Given the description of an element on the screen output the (x, y) to click on. 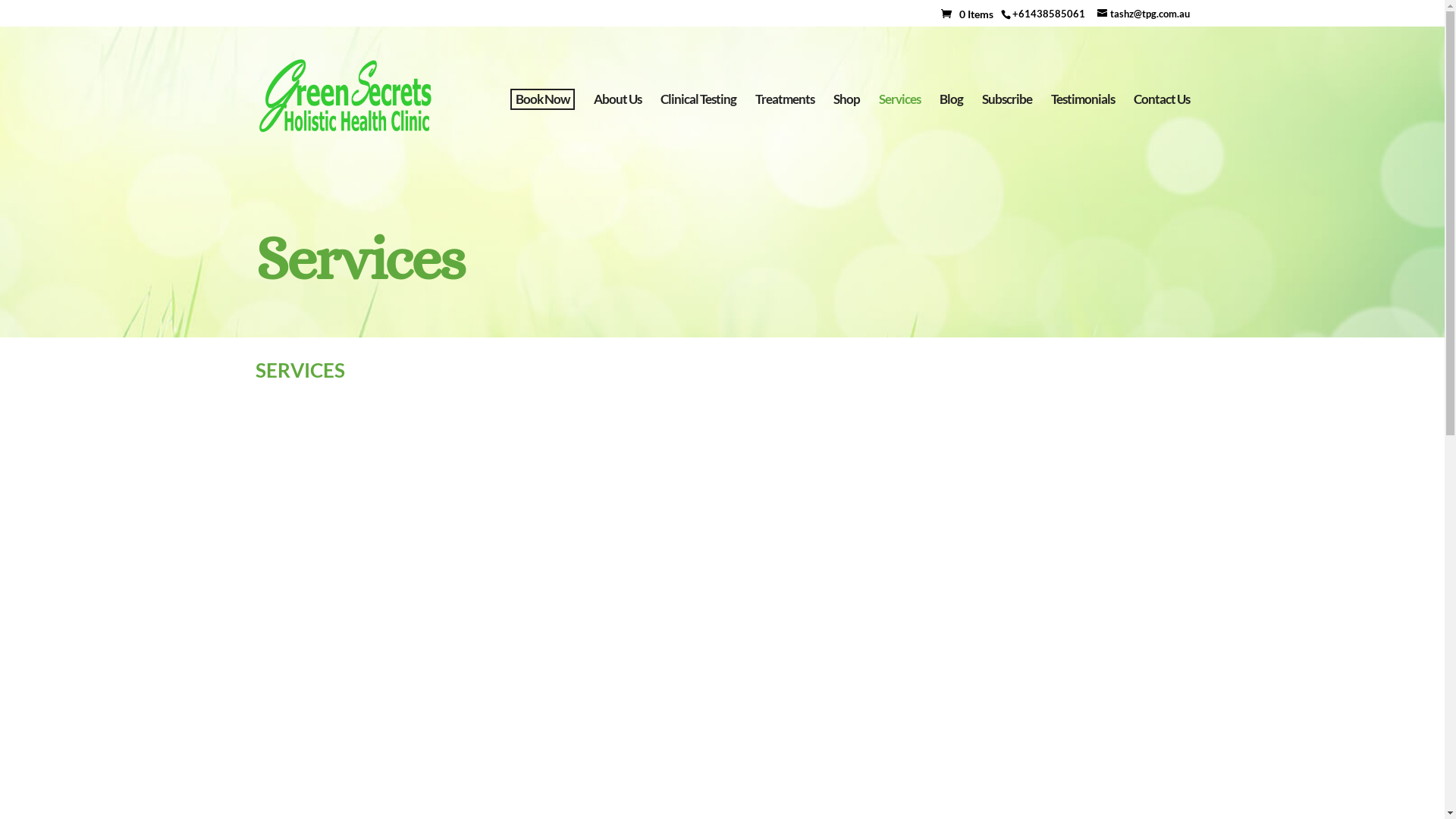
Shop Element type: text (845, 130)
Clinical Testing Element type: text (697, 130)
Services Element type: text (898, 130)
Book Now Element type: text (541, 98)
tashz@tpg.com.au Element type: text (1142, 12)
About Us Element type: text (616, 130)
Testimonials Element type: text (1082, 130)
0 Items Element type: text (970, 13)
Subscribe Element type: text (1006, 130)
Blog Element type: text (950, 130)
Contact Us Element type: text (1160, 130)
Treatments Element type: text (784, 130)
